Given the description of an element on the screen output the (x, y) to click on. 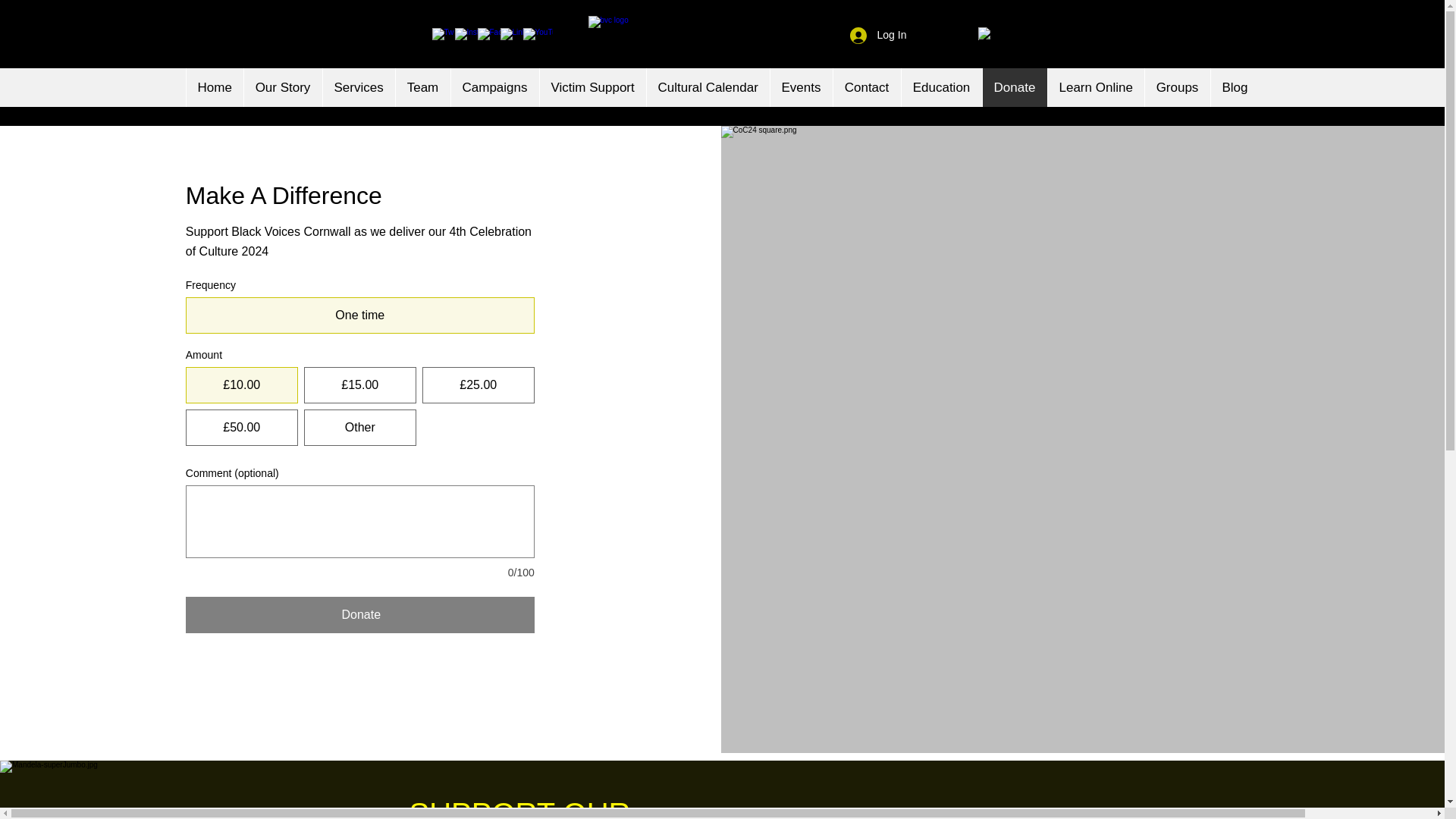
Home (213, 87)
Learn Online (1094, 87)
Education (941, 87)
Our Story (282, 87)
Events (799, 87)
Groups (1175, 87)
Team (421, 87)
Facebook Like (388, 35)
Cultural Calendar (708, 87)
Victim Support (591, 87)
